Given the description of an element on the screen output the (x, y) to click on. 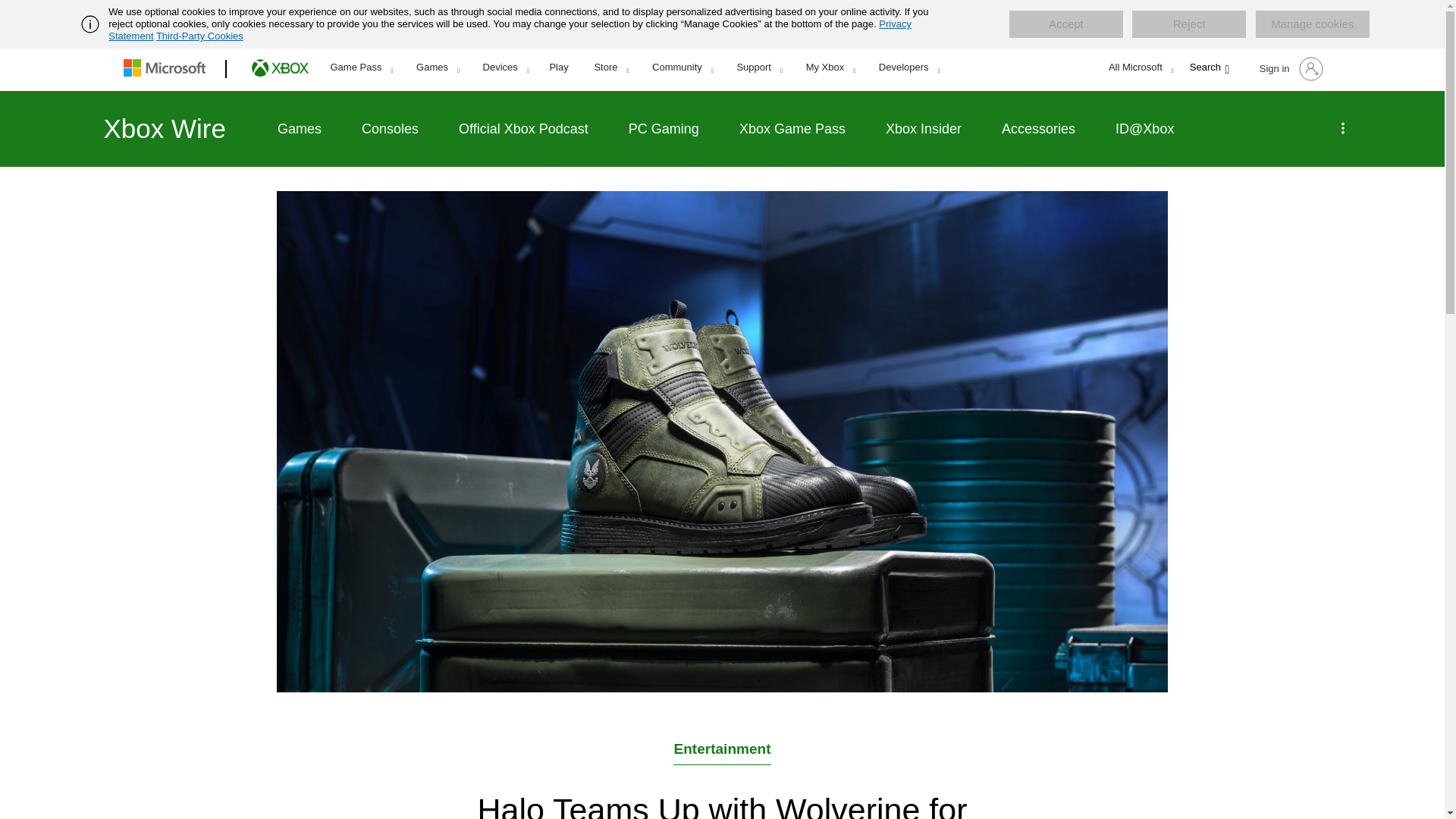
Microsoft (167, 69)
Games (437, 67)
Game Pass (360, 67)
Reject (1189, 23)
Privacy Statement (509, 29)
Manage cookies (1312, 23)
Devices (505, 67)
Third-Party Cookies (199, 35)
Accept (1065, 23)
